Given the description of an element on the screen output the (x, y) to click on. 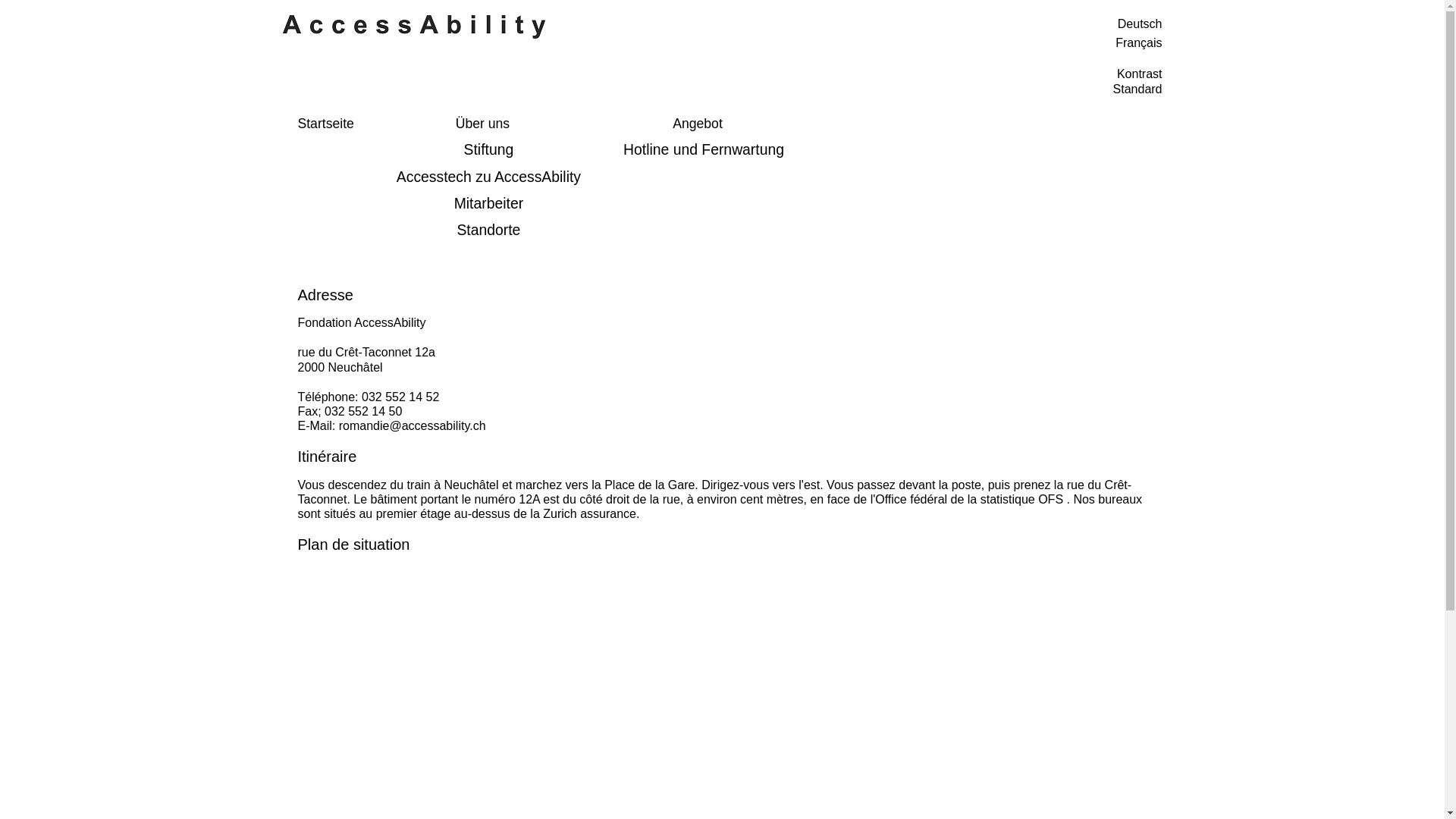
Deutsch Element type: text (945, 23)
Startseite Element type: text (325, 124)
Stiftung Element type: text (488, 149)
Angebot Element type: text (697, 124)
Mitarbeiter Element type: text (488, 203)
Hotline und Fernwartung Element type: text (703, 149)
Accesstech zu AccessAbility Element type: text (488, 176)
Kontrast Element type: text (1139, 73)
Standard Element type: text (1137, 89)
Startseite Element type: hover (419, 26)
Standorte Element type: text (488, 229)
